Given the description of an element on the screen output the (x, y) to click on. 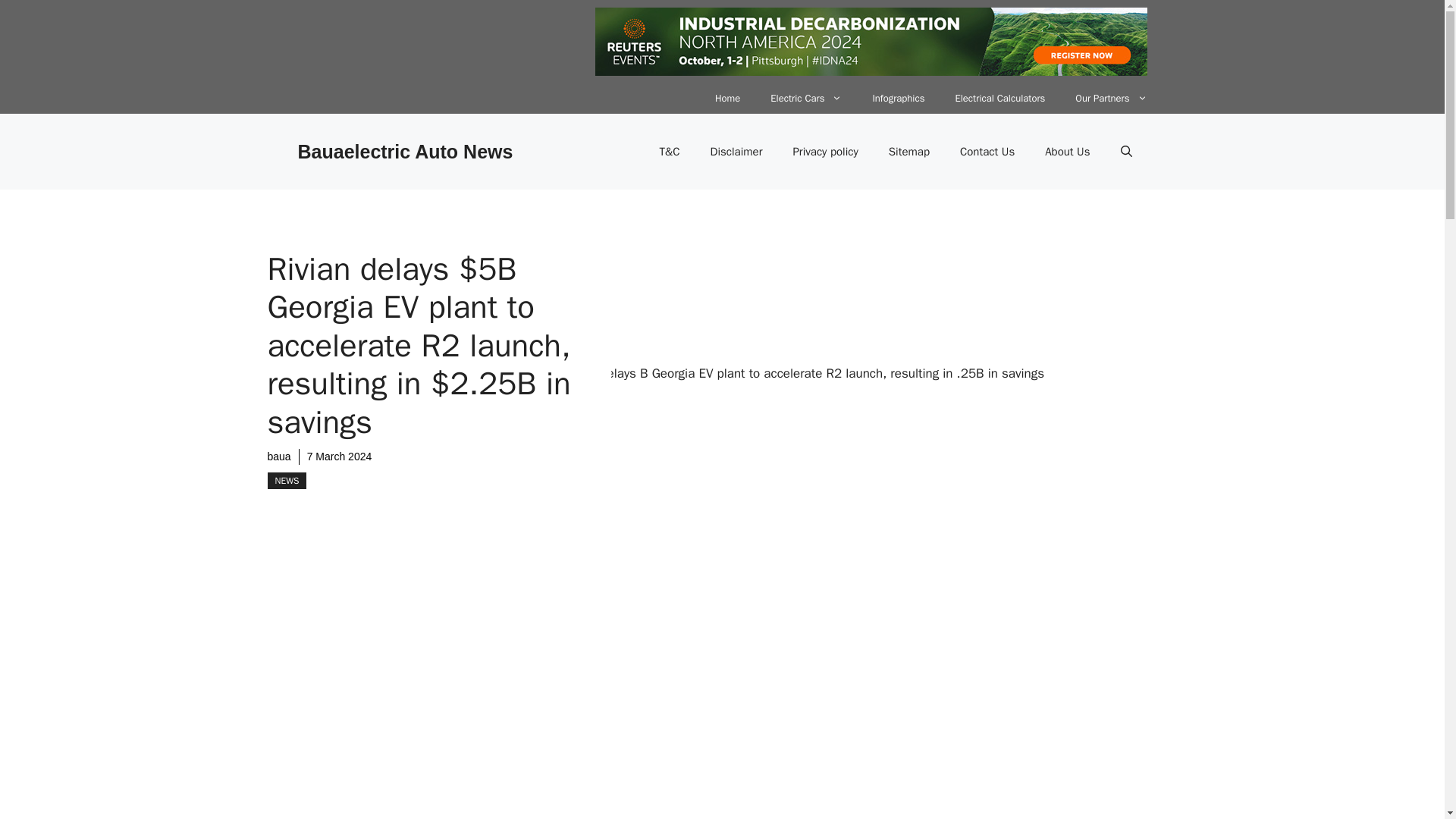
Privacy policy (824, 151)
Electrical Calculators (999, 98)
Electric Cars (806, 98)
Home (727, 98)
Sitemap (908, 151)
Infographics (898, 98)
Our Partners (1110, 98)
Bauaelectric Auto News (404, 151)
Disclaimer (736, 151)
